Given the description of an element on the screen output the (x, y) to click on. 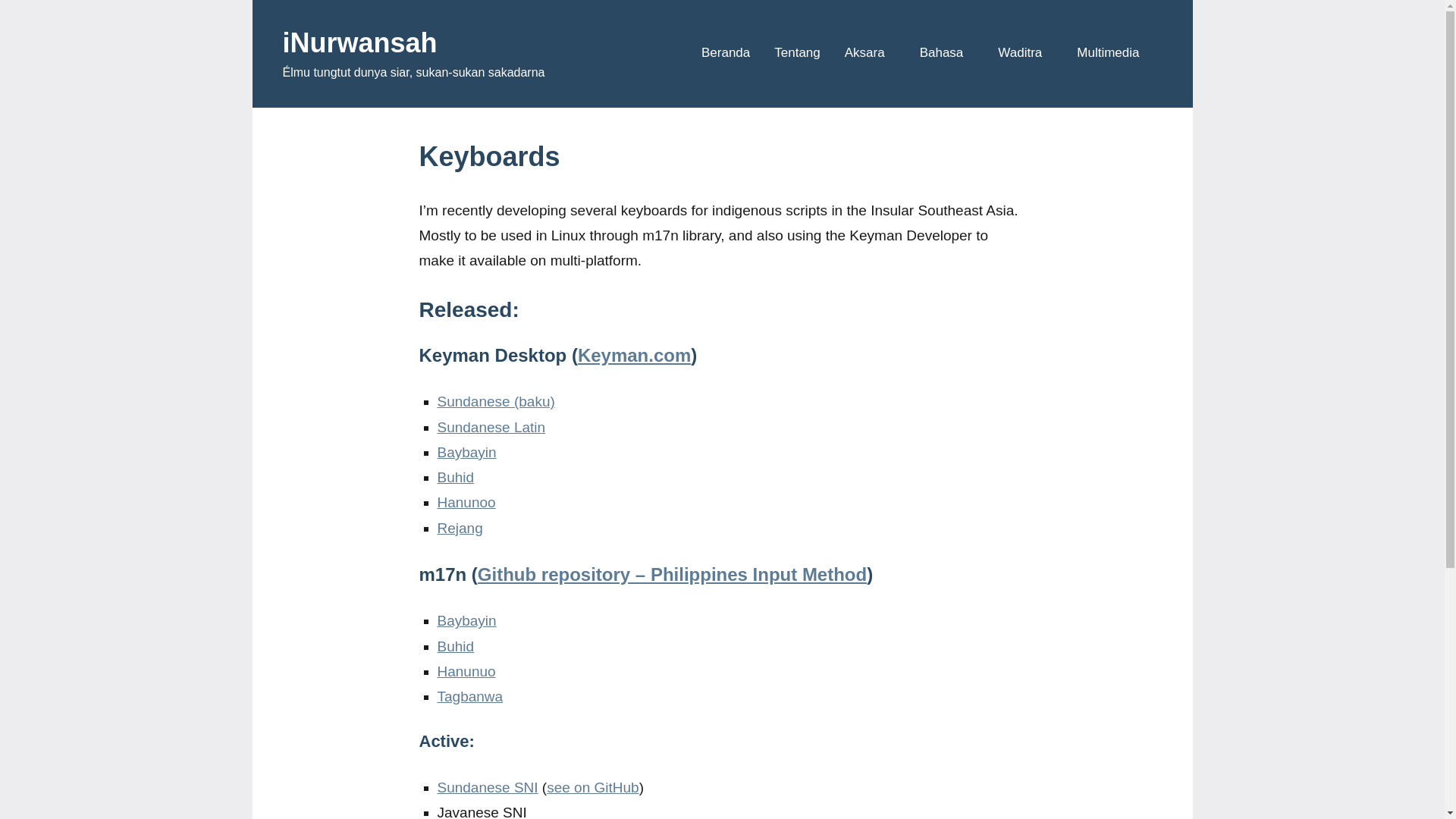
Beranda (725, 53)
Tagbanwa (469, 696)
Hanunuo (465, 671)
Sundanese Latin (490, 426)
iNurwansah (359, 42)
Keyman.com (634, 354)
Hanunoo (465, 502)
Aksara (869, 53)
Tentang (797, 53)
Baybayin (466, 452)
